Given the description of an element on the screen output the (x, y) to click on. 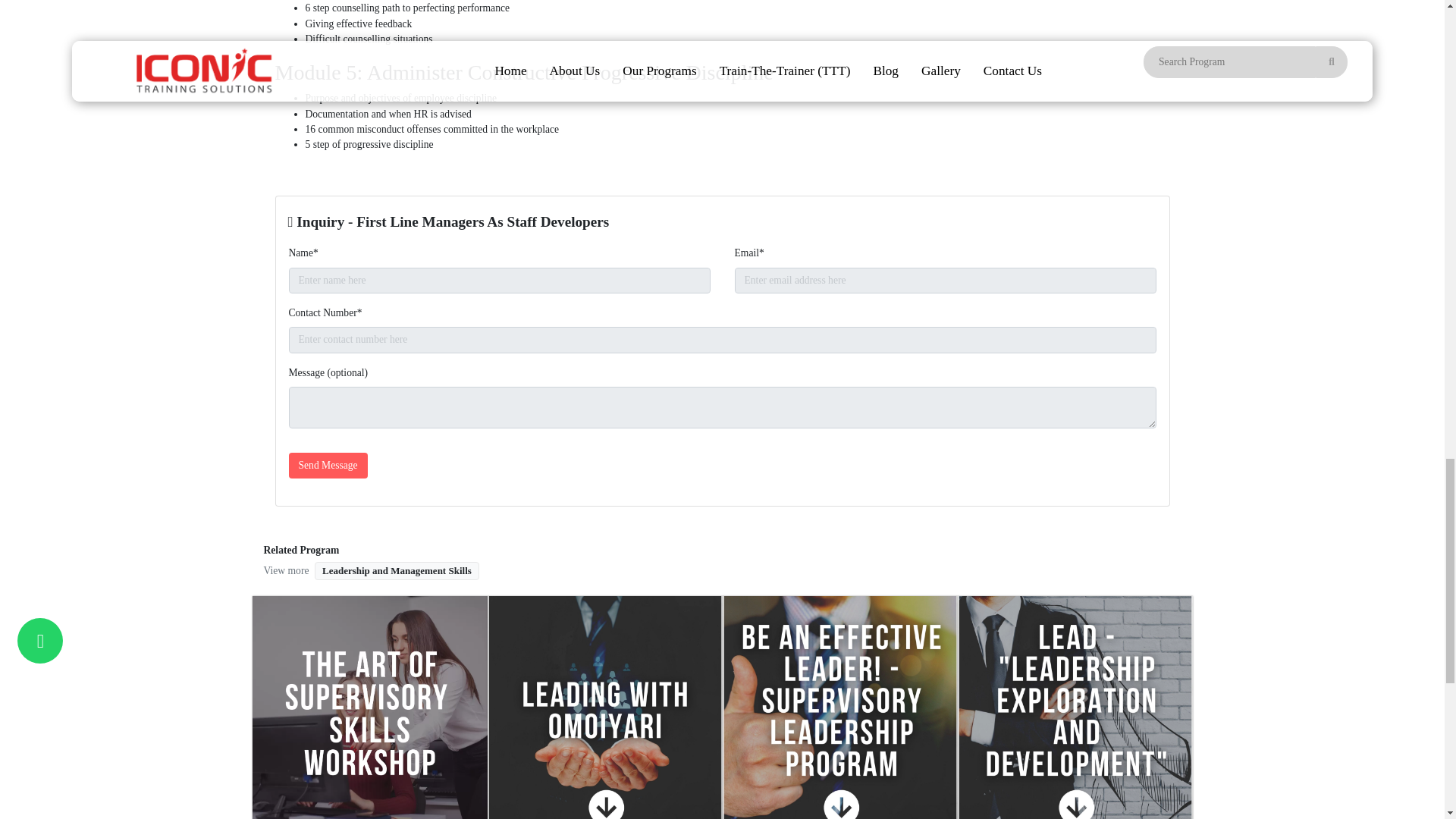
Send Message (327, 465)
